Given the description of an element on the screen output the (x, y) to click on. 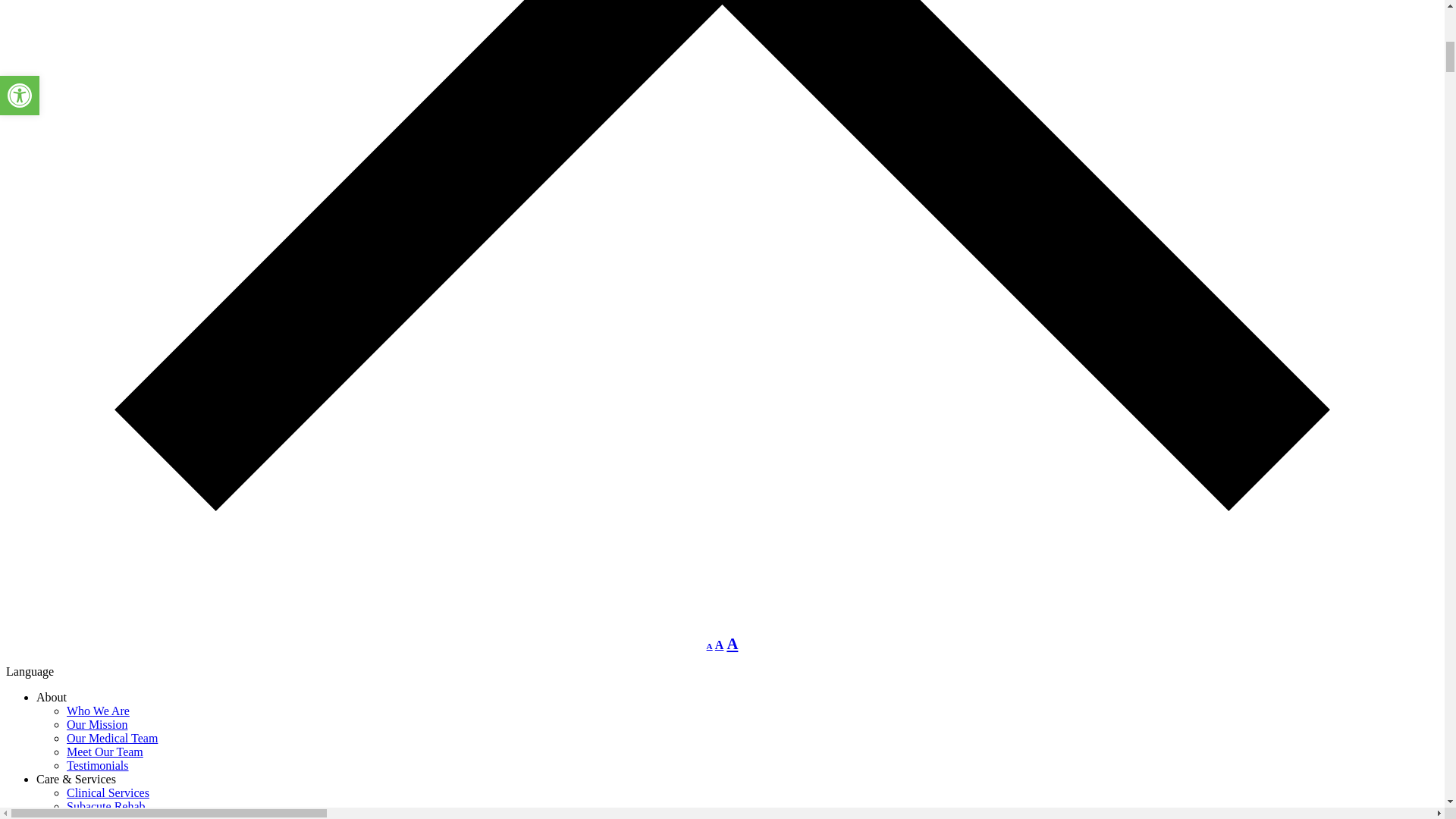
Who We Are (97, 710)
Meet Our Team (104, 751)
Long Term Care (106, 816)
Our Medical Team (111, 738)
Clinical Services (107, 792)
Our Mission (97, 724)
Subacute Rehab (105, 806)
Testimonials (97, 765)
About (51, 697)
